Given the description of an element on the screen output the (x, y) to click on. 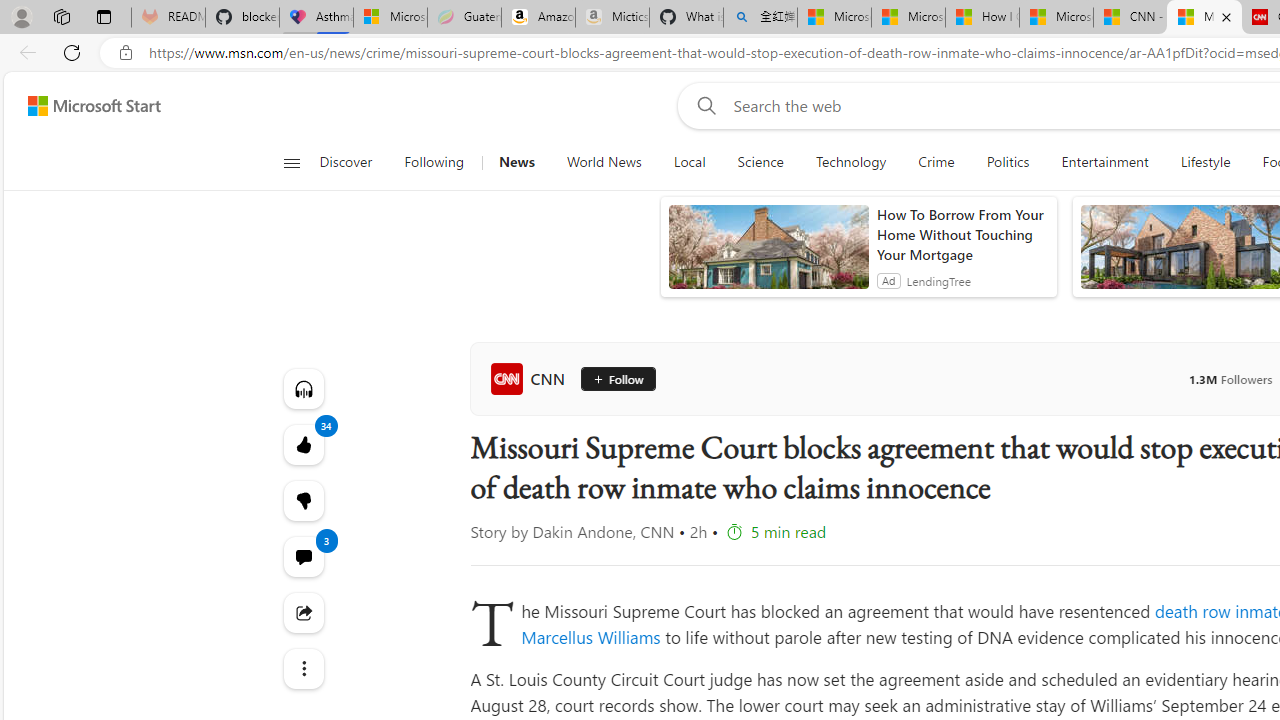
Skip to footer (82, 105)
Asthma Inhalers: Names and Types (316, 17)
View site information (125, 53)
Technology (851, 162)
Skip to content (86, 105)
News (516, 162)
Lifestyle (1205, 162)
Open navigation menu (291, 162)
Class: at-item (302, 668)
Follow (617, 378)
Personal Profile (21, 16)
Entertainment (1105, 162)
34 Like (302, 444)
Entertainment (1104, 162)
